Given the description of an element on the screen output the (x, y) to click on. 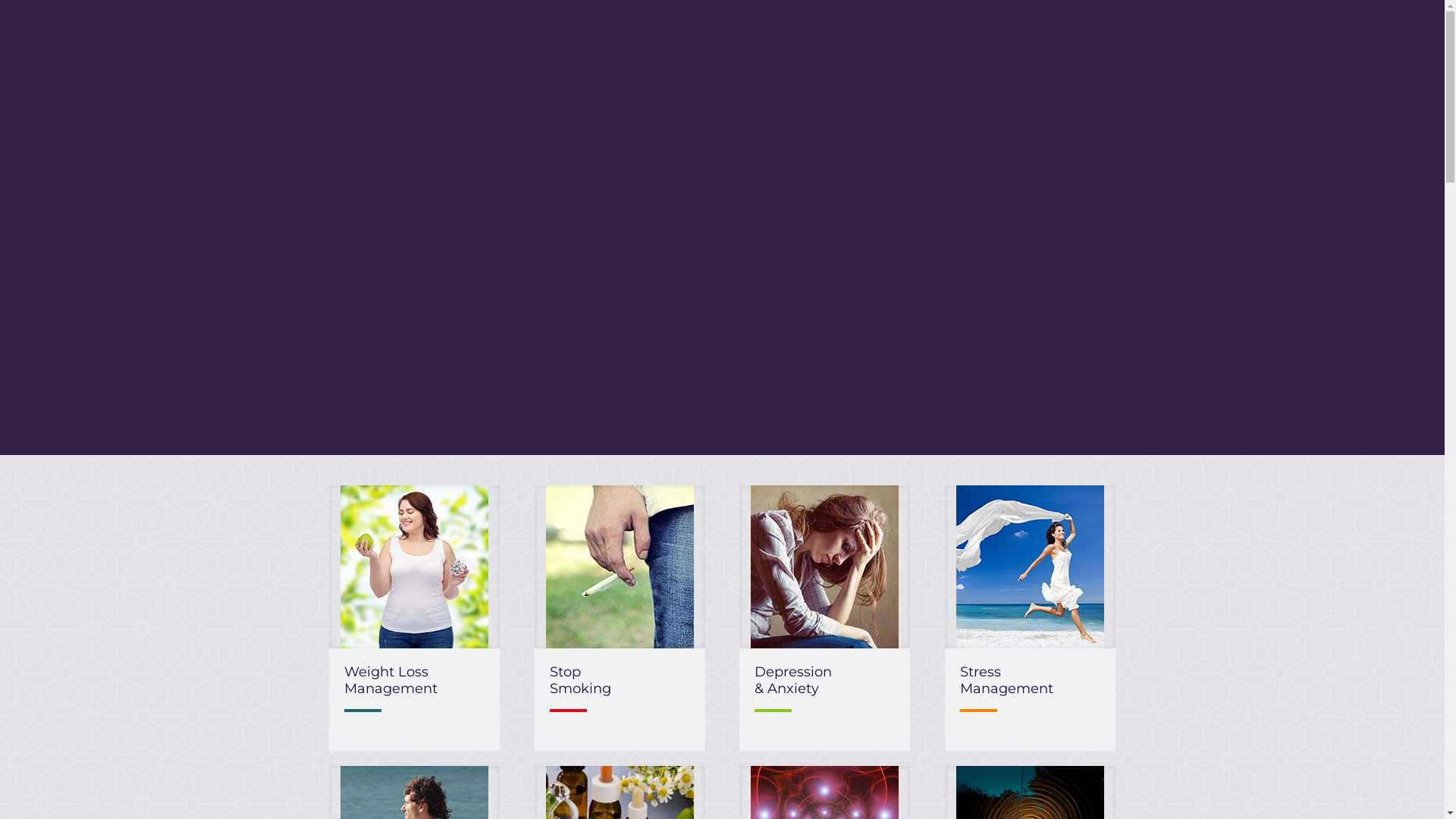
Weight Loss
Management Element type: text (390, 679)
Stop
Smoking Element type: text (580, 679)
Stress
Management Element type: text (1006, 679)
Depression
& Anxiety Element type: text (792, 679)
